Given the description of an element on the screen output the (x, y) to click on. 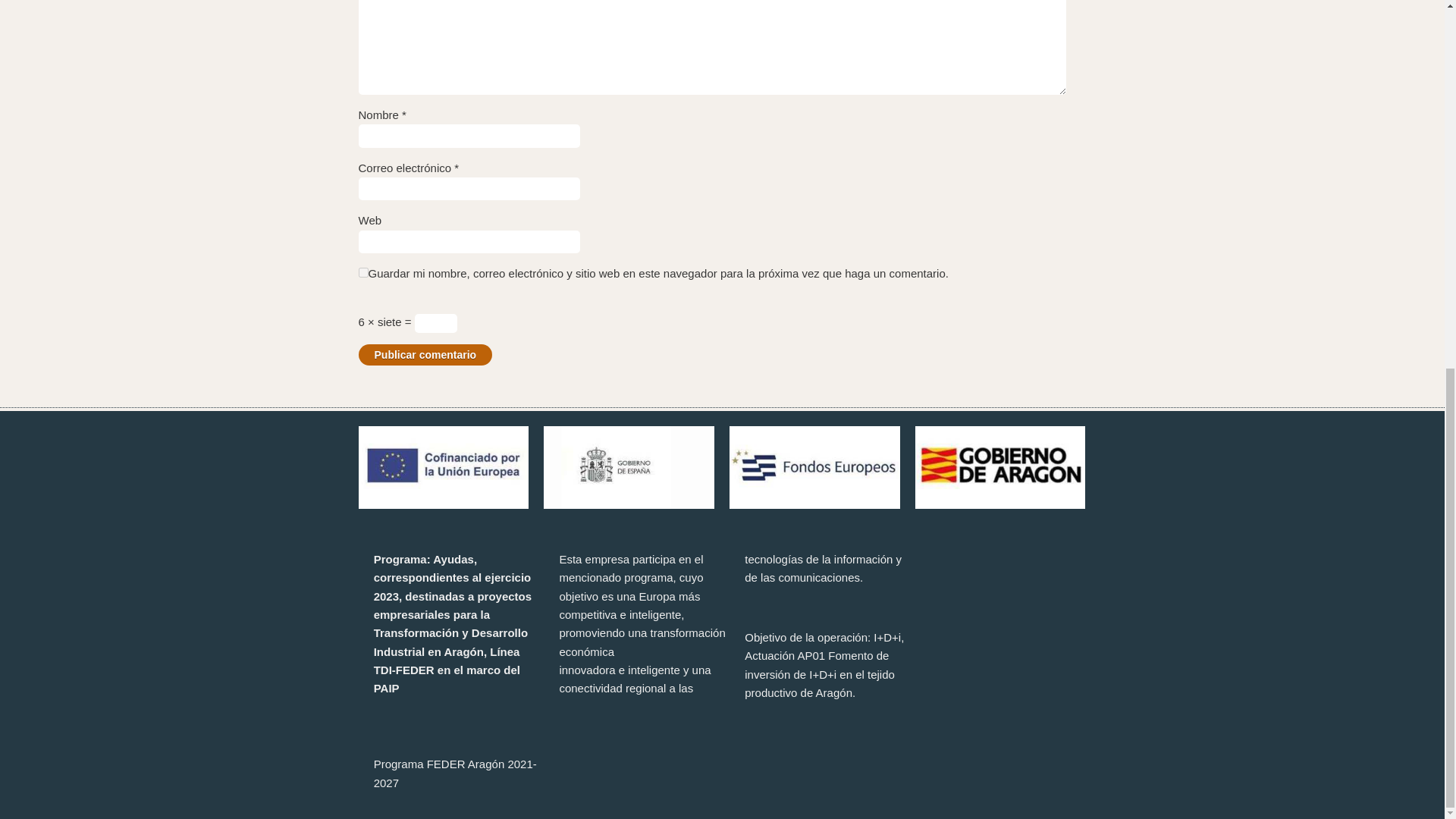
yes (363, 272)
Publicar comentario (425, 354)
Publicar comentario (425, 354)
